Given the description of an element on the screen output the (x, y) to click on. 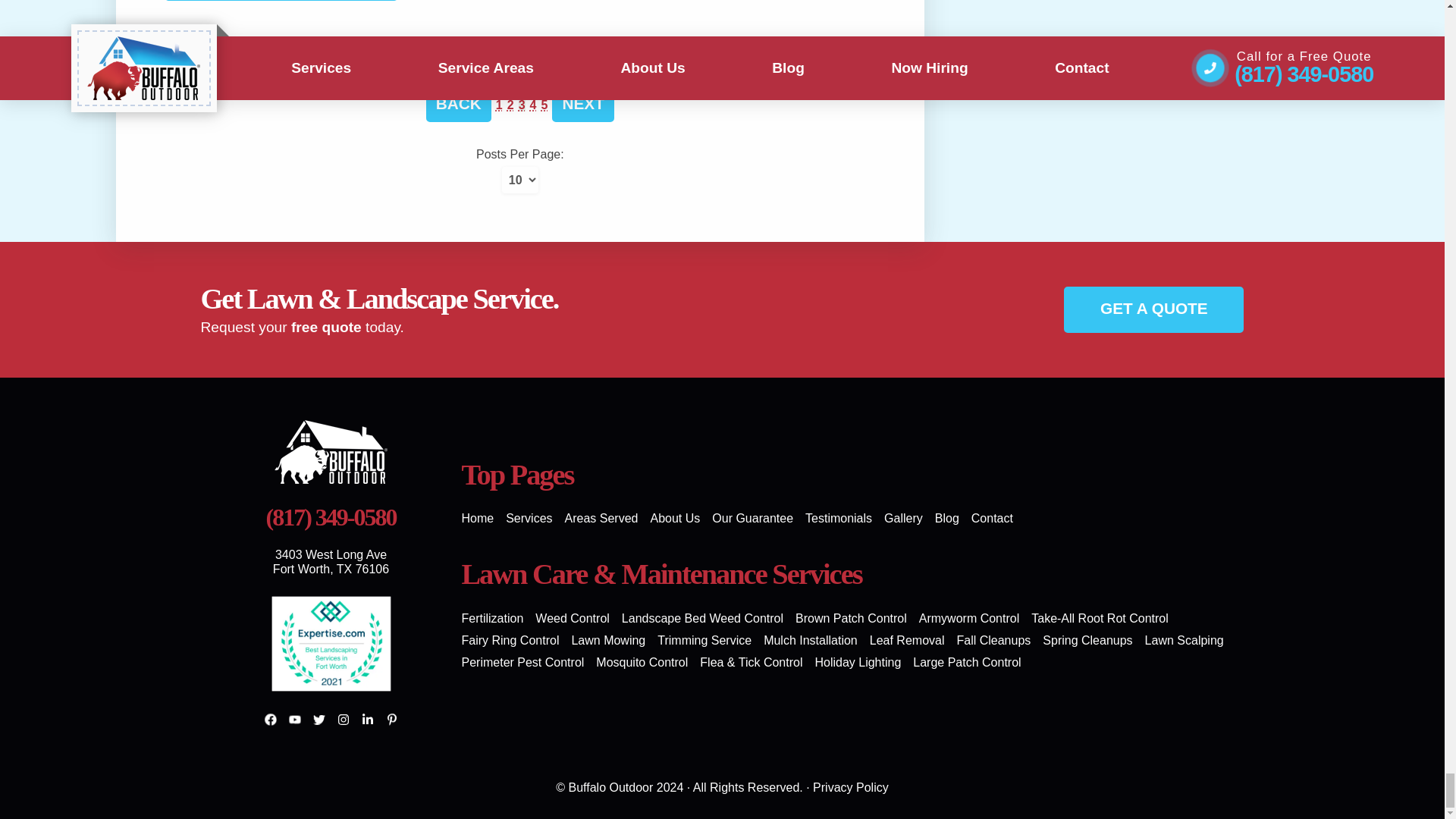
Buffalo Outdoor on LinkedIn (366, 719)
Next (581, 104)
Buffalo Outdoor on YouTube (293, 719)
Buffalo Outdoor on Twitter (317, 719)
Buffalo Outdoor on Pinterest (390, 719)
Back (459, 104)
Buffalo Outdoor on Instagram (342, 719)
Buffalo Outdoor on Facebook (269, 719)
